Given the description of an element on the screen output the (x, y) to click on. 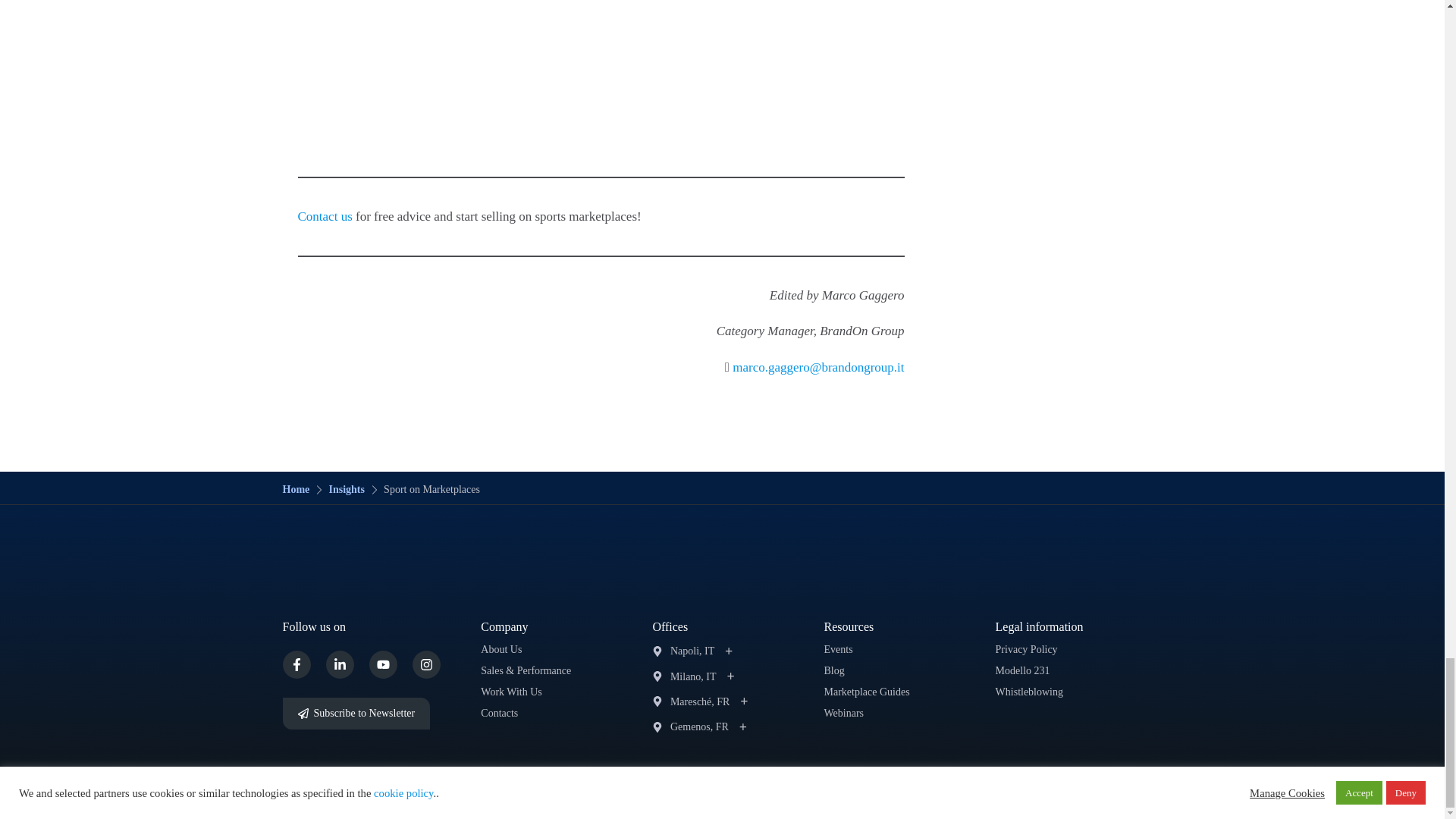
Home (295, 489)
Subscribe to Newsletter (355, 713)
Insights (346, 489)
About Us (500, 649)
Contact us (324, 216)
Sport on Marketplaces 2 (600, 52)
BrandOn Group Footer Logo  (722, 565)
